Given the description of an element on the screen output the (x, y) to click on. 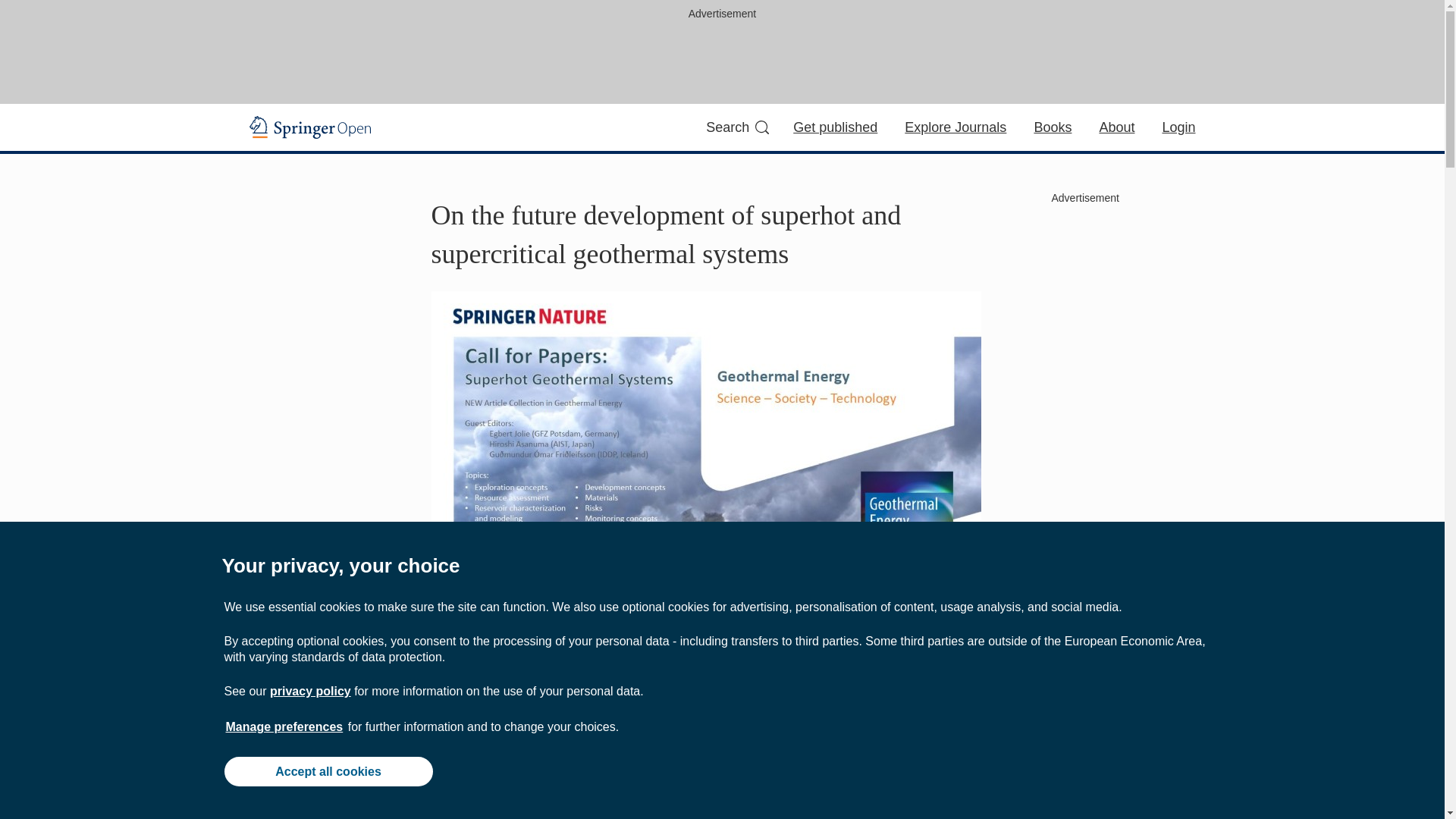
About (1116, 127)
3rd party ad content (722, 59)
Get published (835, 127)
Accept all cookies (328, 771)
Explore Journals (955, 127)
privacy policy (309, 690)
Books (1052, 127)
Login (1178, 127)
Search (737, 127)
Manage preferences (284, 726)
